Given the description of an element on the screen output the (x, y) to click on. 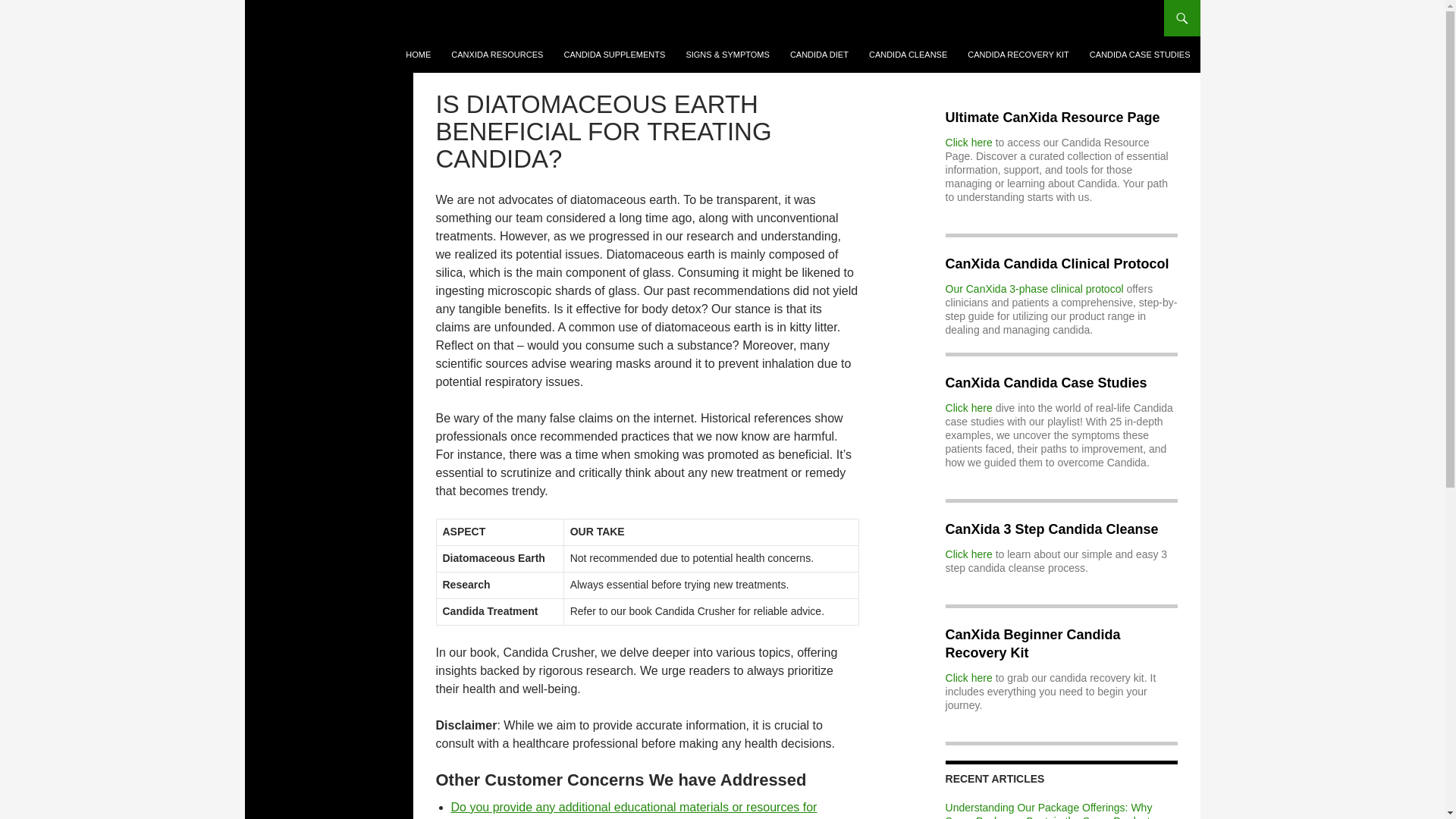
Click here (968, 408)
Our CanXida 3-phase clinical protocol (1034, 288)
HOME (417, 54)
Click here (968, 677)
CANDIDA SUPPLEMENTS (614, 54)
CanXida Blog (323, 18)
CANXIDA RESOURCES (496, 54)
CANDIDA DIET (818, 54)
CANDIDA CLEANSE (908, 54)
Click here (968, 142)
